Given the description of an element on the screen output the (x, y) to click on. 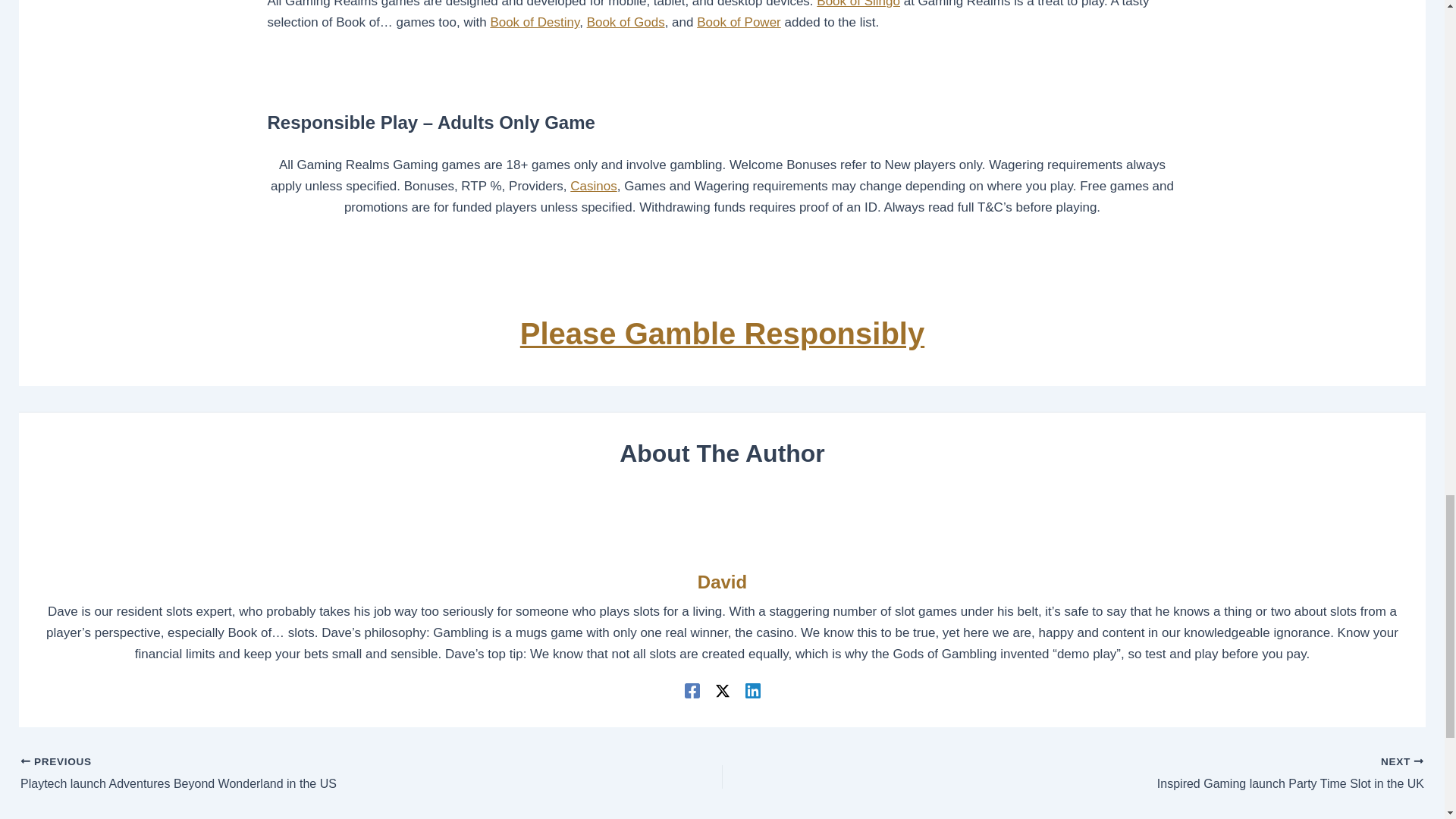
Book of Destiny (534, 22)
Book of Gods (625, 22)
Casinos (592, 186)
Inspired Gaming launch Party Time Slot in the UK (1142, 773)
Book of Power (738, 22)
David (722, 582)
Book of Slingo (857, 4)
Playtech launch Adventures Beyond Wonderland in the US (301, 773)
Please Gamble Responsibly (721, 333)
